Given the description of an element on the screen output the (x, y) to click on. 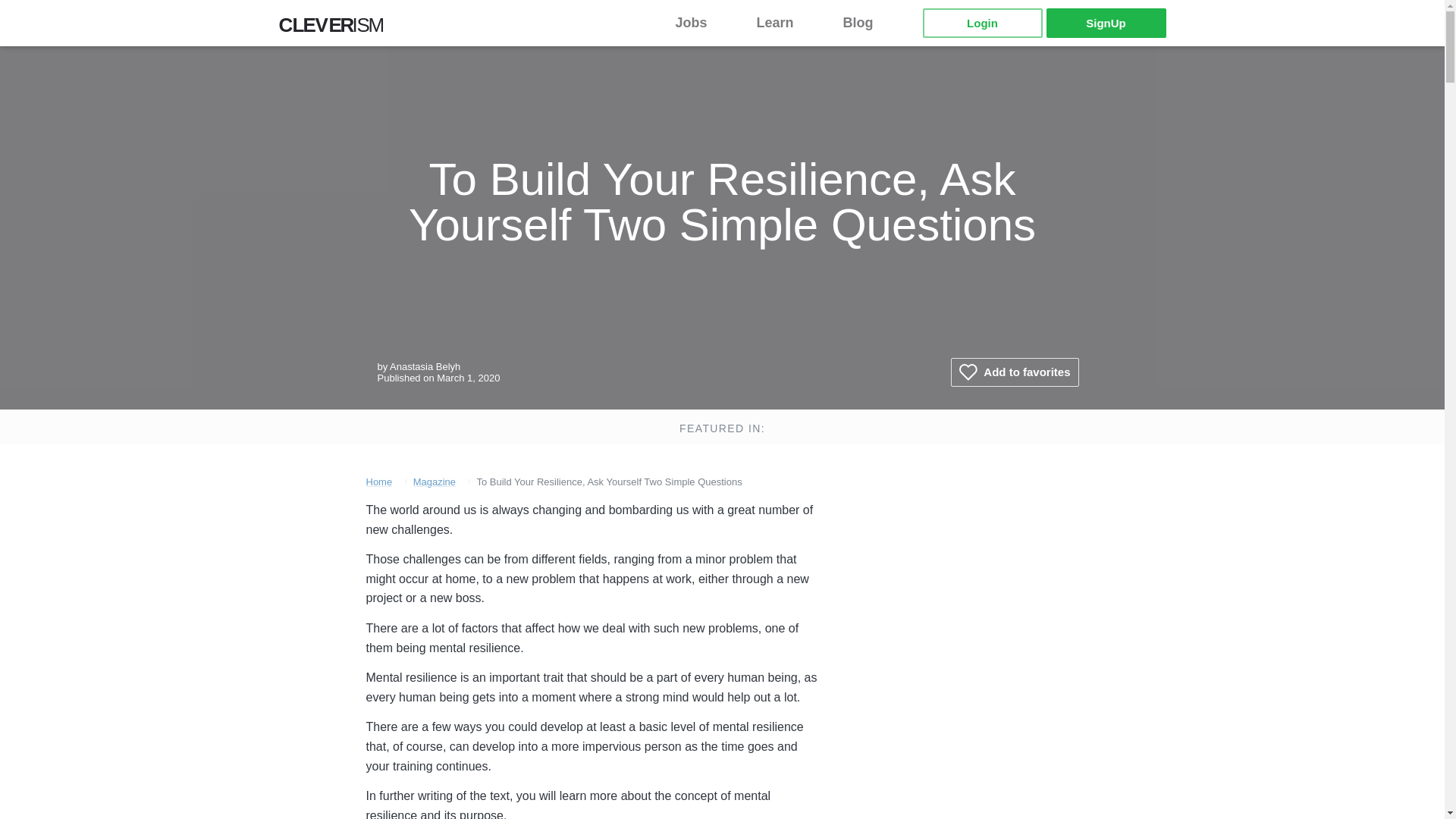
Magazine (434, 481)
Blog (867, 22)
Login (981, 22)
SignUp (1106, 22)
Add to favorites (1014, 371)
Home (378, 481)
Learn (783, 22)
Jobs (700, 22)
